Given the description of an element on the screen output the (x, y) to click on. 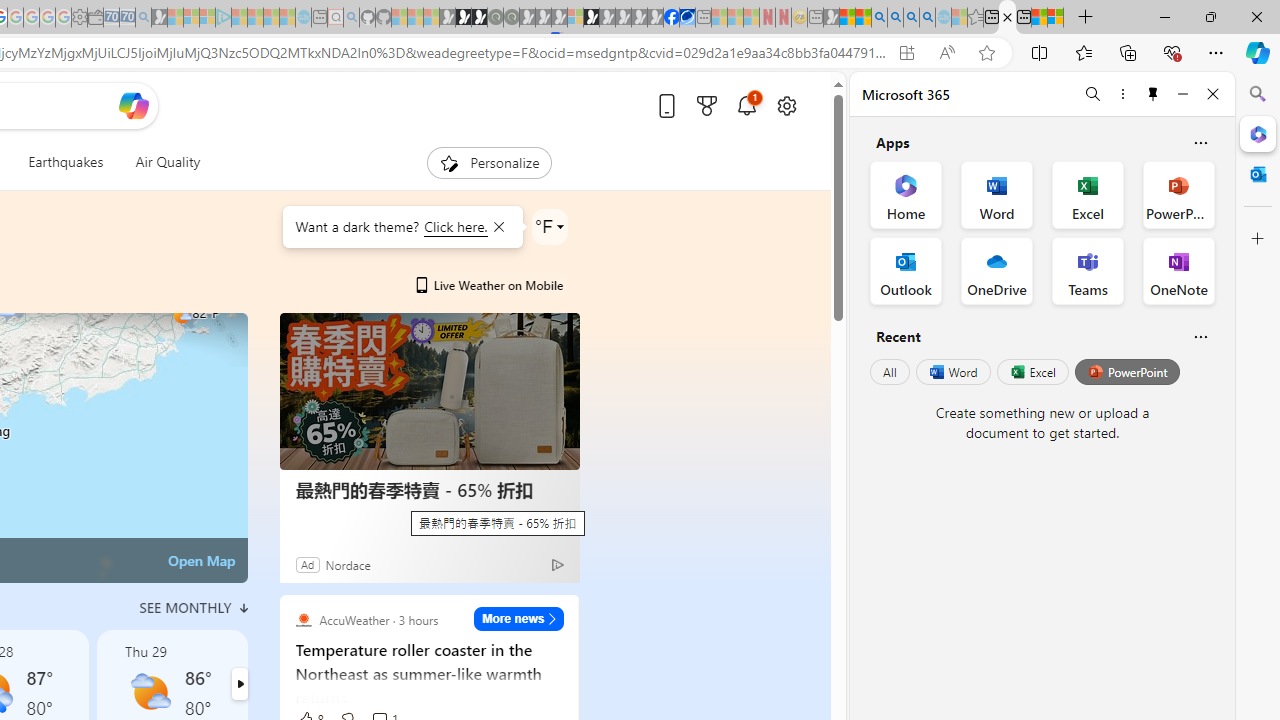
See Monthly (193, 607)
App available. Install Microsoft Start Weather (906, 53)
PowerPoint (1127, 372)
Word Office App (996, 194)
OneNote Office App (1178, 270)
